Given the description of an element on the screen output the (x, y) to click on. 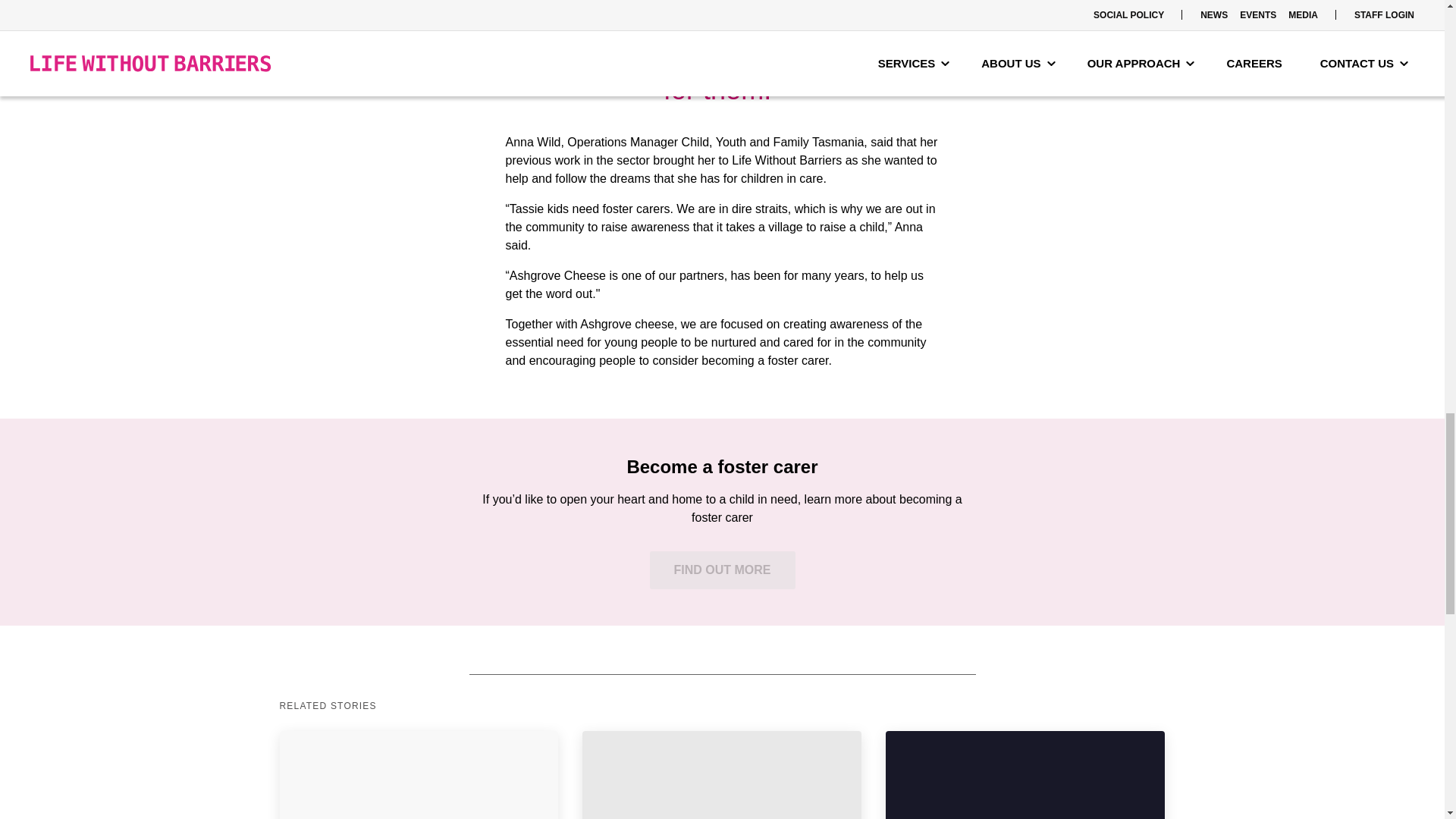
FIND OUT MORE (721, 569)
